Given the description of an element on the screen output the (x, y) to click on. 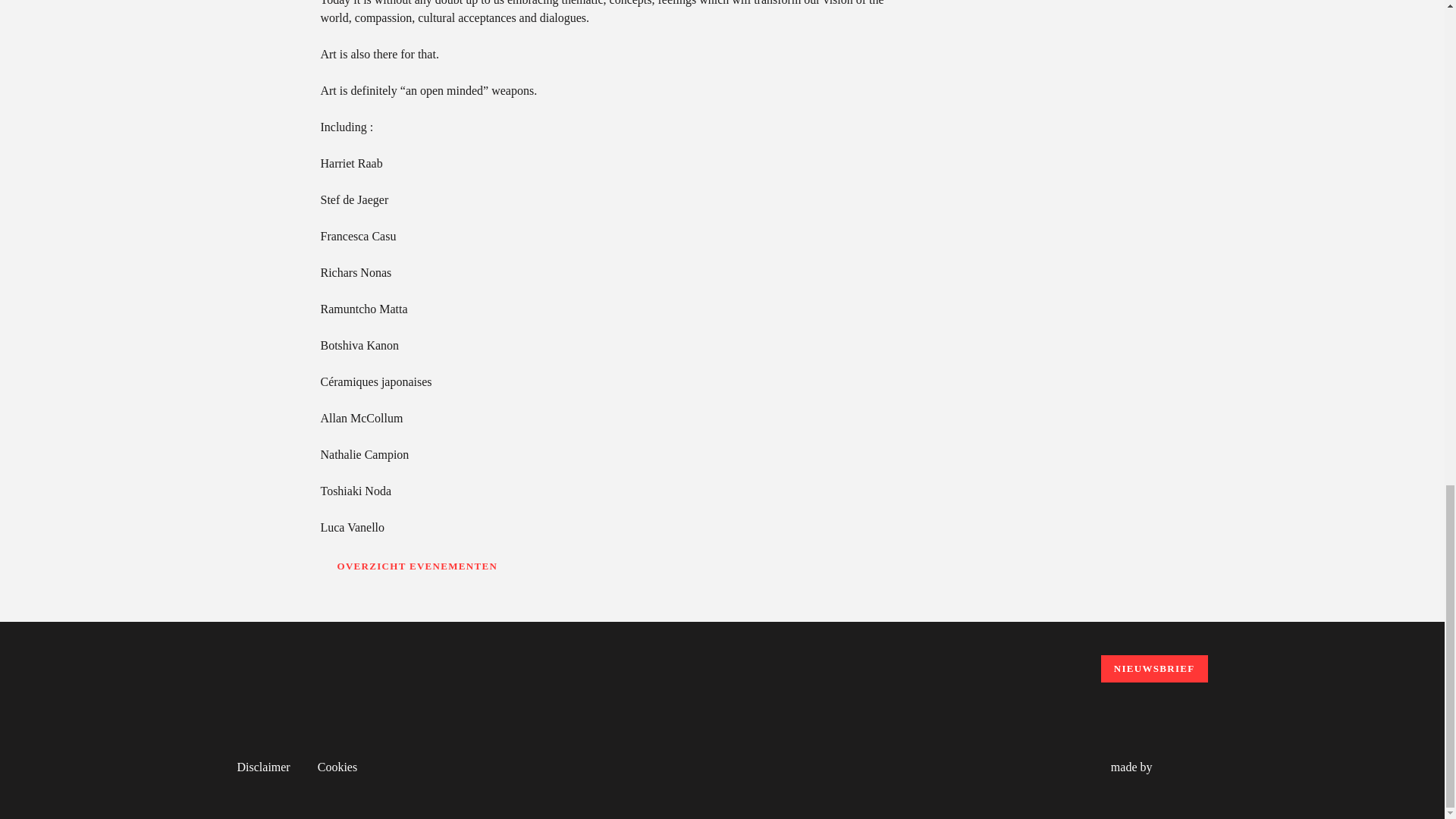
Disclaimer (262, 766)
OVERZICHT EVENEMENTEN (408, 566)
Cookies (336, 766)
NIEUWSBRIEF (1154, 668)
Vlaanderen (732, 764)
